Given the description of an element on the screen output the (x, y) to click on. 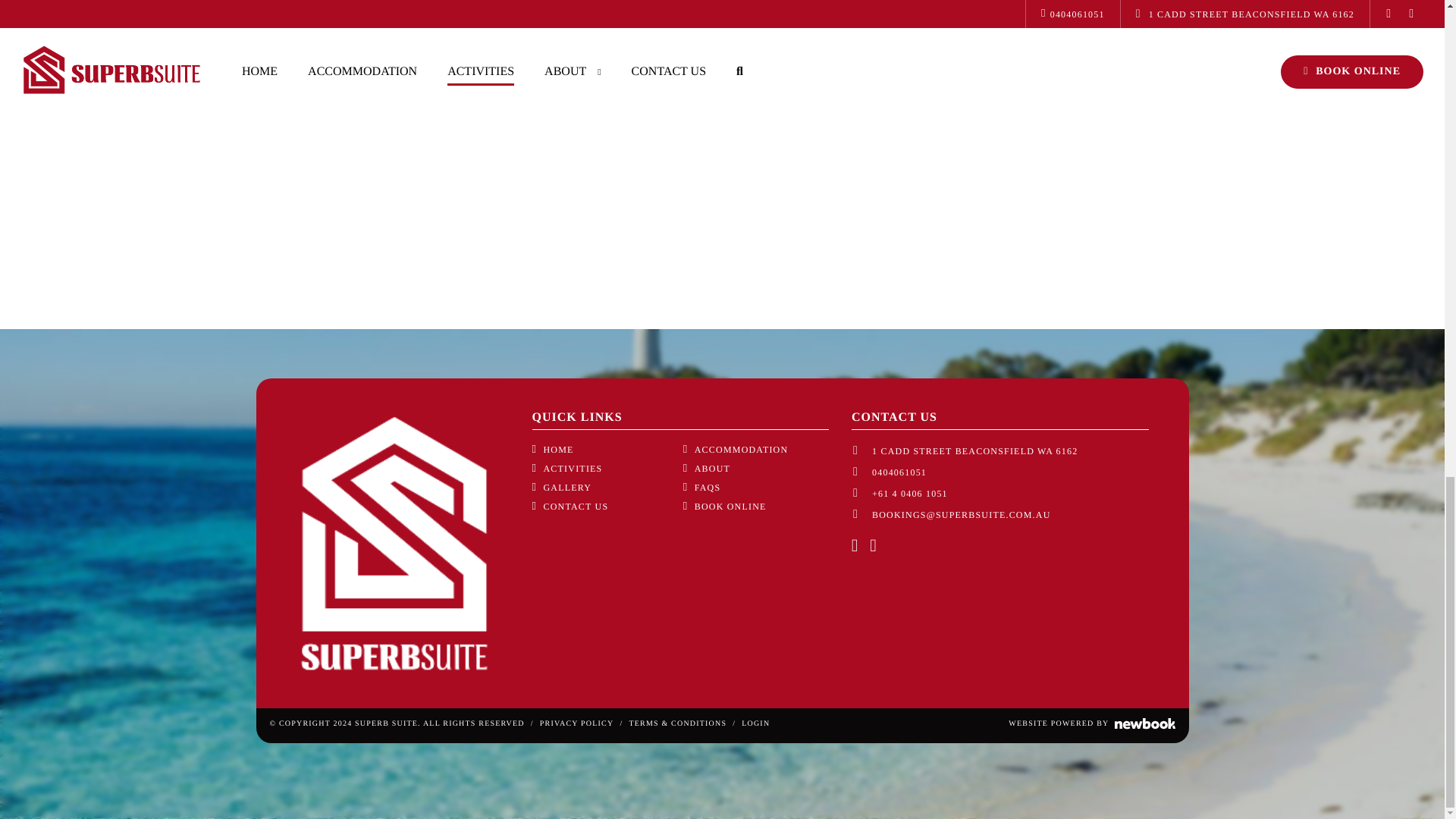
Log into the website editor (755, 723)
View our privacy policy (577, 723)
View our terms and conditions (677, 723)
